Given the description of an element on the screen output the (x, y) to click on. 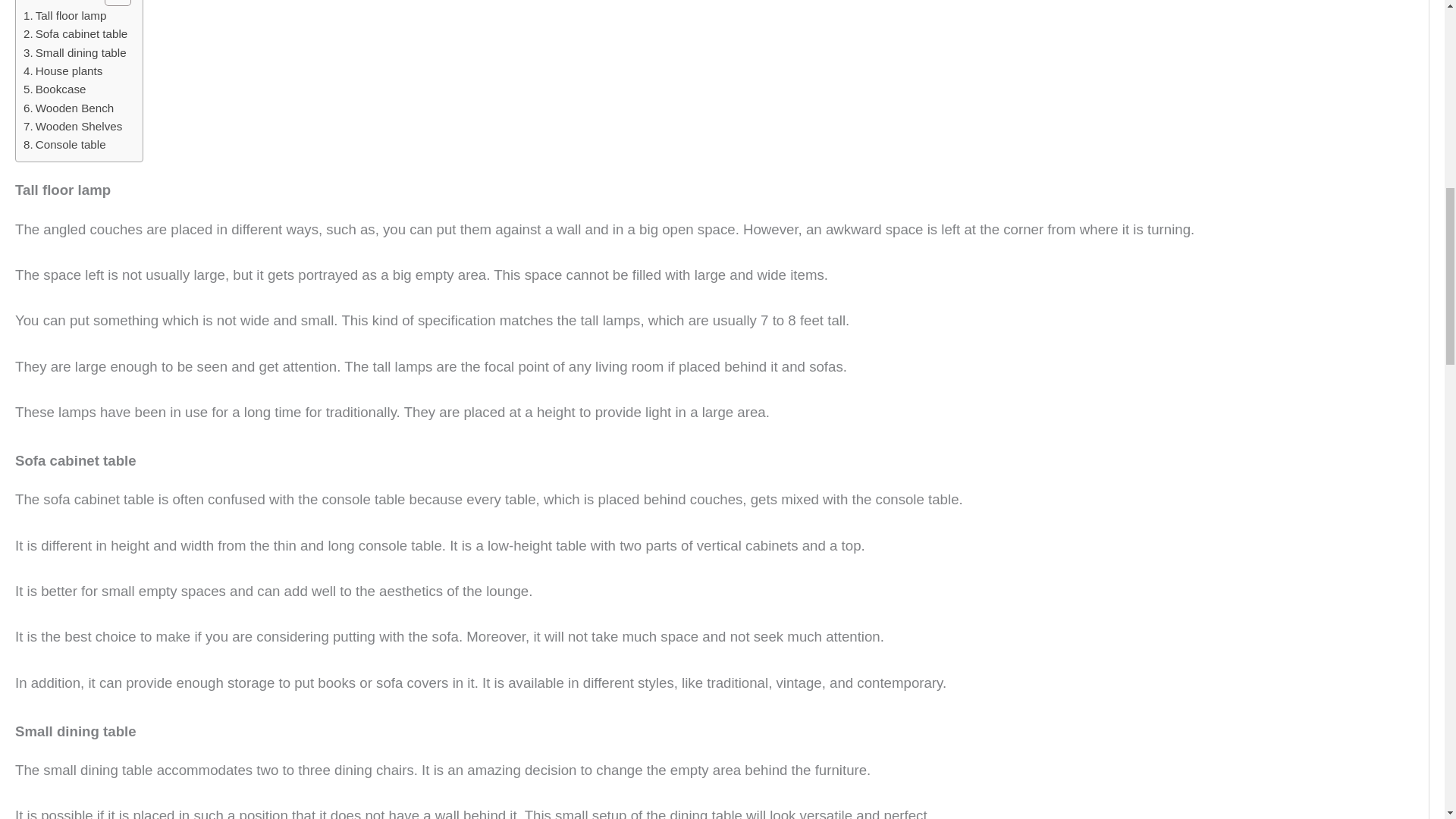
Small dining table (74, 53)
Console table (64, 144)
Small dining table (74, 53)
Sofa cabinet table (75, 34)
House plants (62, 71)
Wooden Shelves (72, 126)
Bookcase (54, 89)
Wooden Shelves (72, 126)
Wooden Bench (68, 107)
Tall floor lamp (64, 15)
Wooden Bench (68, 107)
Console table (64, 144)
Tall floor lamp (64, 15)
House plants (62, 71)
Bookcase (54, 89)
